Given the description of an element on the screen output the (x, y) to click on. 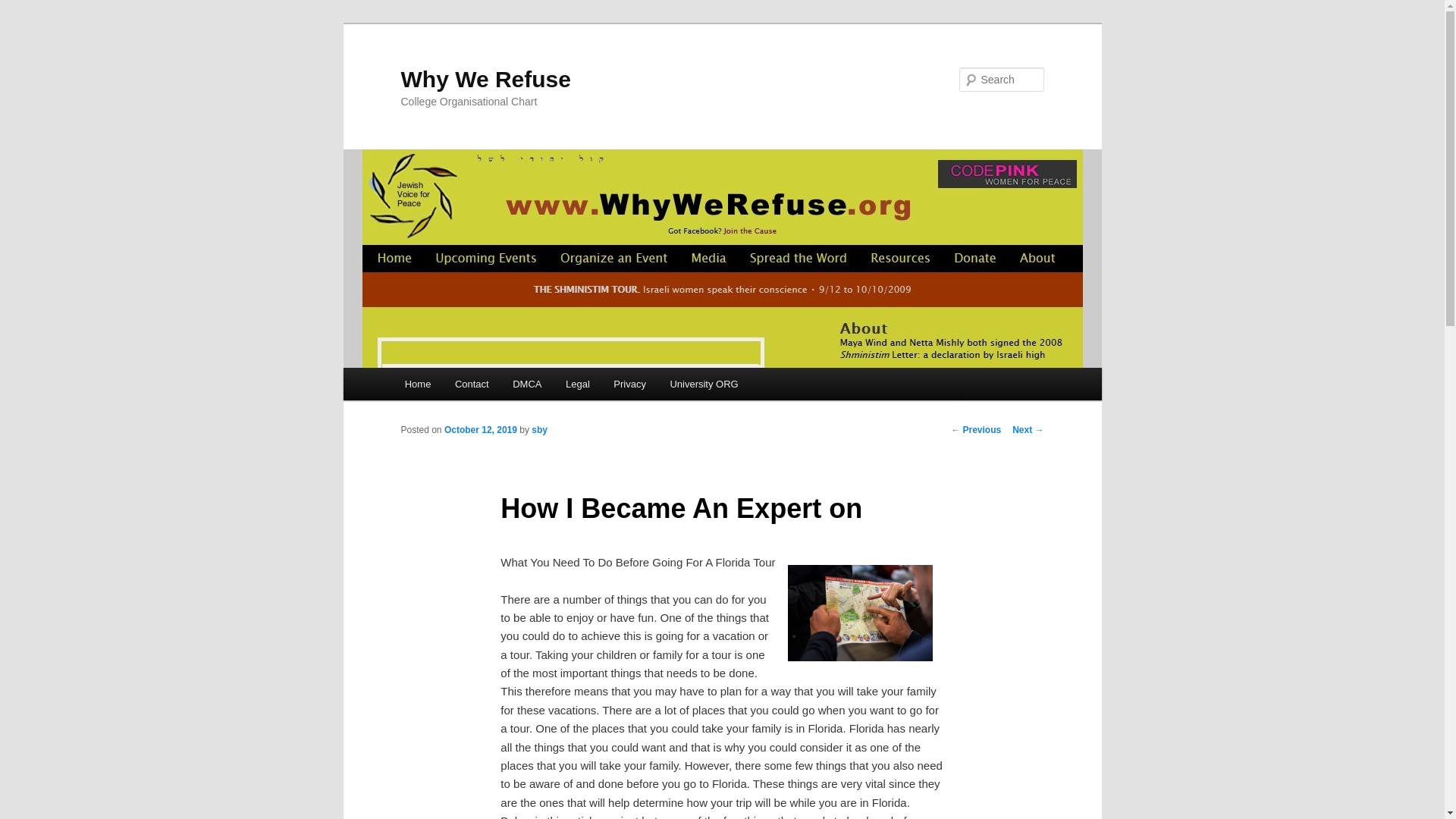
Search (24, 8)
Contact (471, 383)
DMCA (526, 383)
7:38 pm (480, 429)
University ORG (704, 383)
Search (21, 11)
Home (417, 383)
sby (539, 429)
Legal (577, 383)
Privacy (630, 383)
October 12, 2019 (480, 429)
View all posts by sby (539, 429)
Why We Refuse (485, 78)
